Given the description of an element on the screen output the (x, y) to click on. 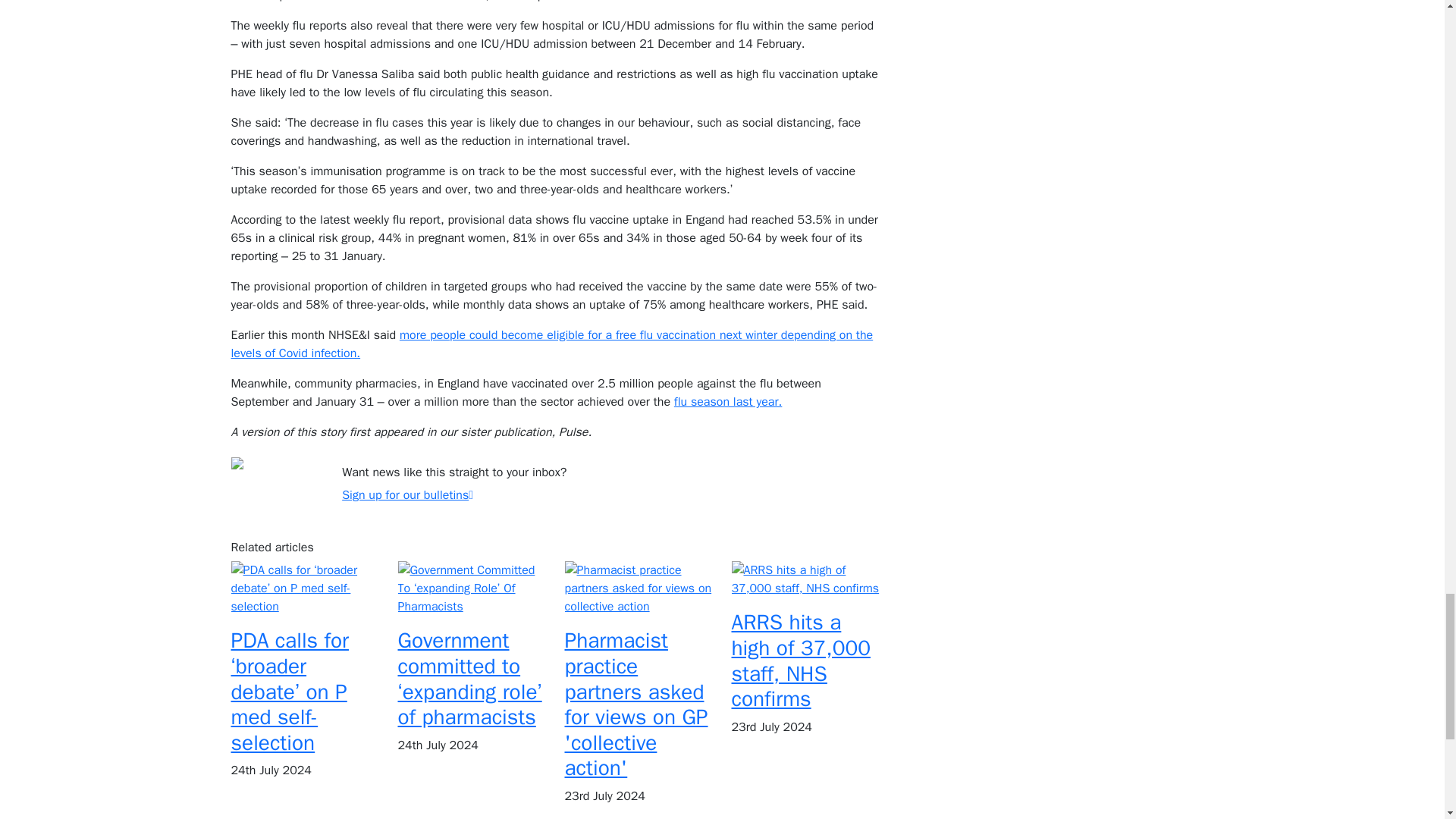
ARRS hits a high of 37,000 staff, NHS confirms (804, 578)
ARRS hits a high of 37,000 staff, NHS confirms (800, 660)
Sign up for our bulletins (407, 494)
